Given the description of an element on the screen output the (x, y) to click on. 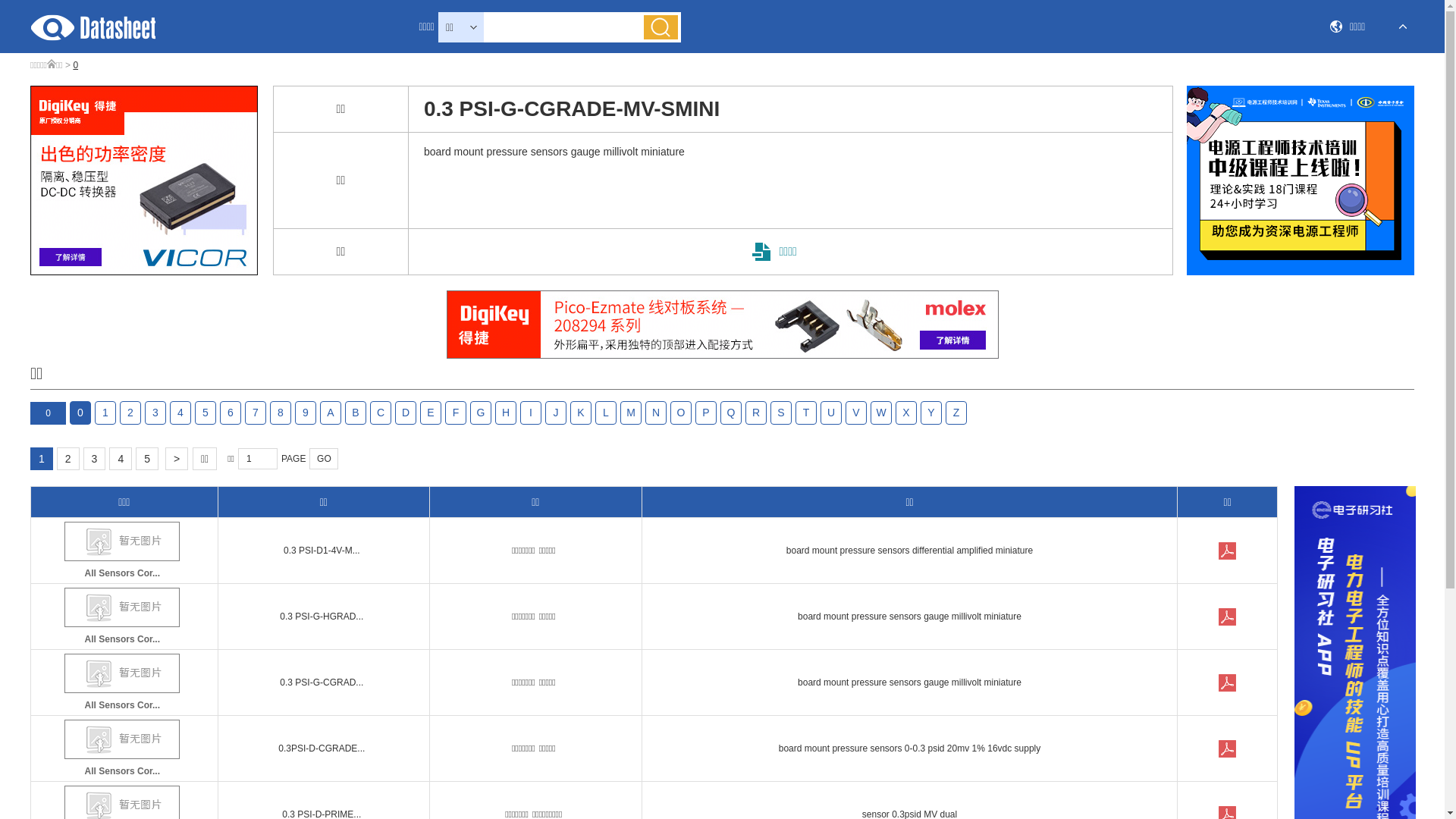
E Element type: text (430, 412)
G Element type: text (480, 412)
O Element type: text (680, 412)
M Element type: text (630, 412)
0.3 PSI-G-HGRADE-MV-SMINI Element type: hover (1227, 617)
I Element type: text (530, 412)
3rd party ad content Element type: hover (143, 180)
GO Element type: text (323, 458)
V Element type: text (855, 412)
0.3PSI-D-CGRADE... Element type: text (321, 748)
All Sensors Cor... Element type: text (122, 684)
W Element type: text (880, 412)
6 Element type: text (230, 412)
All Sensors Cor... Element type: text (122, 618)
Q Element type: text (730, 412)
Y Element type: text (930, 412)
J Element type: text (555, 412)
R Element type: text (755, 412)
2 Element type: text (67, 458)
0.3 PSI-G-HGRAD... Element type: text (321, 616)
0.3PSI-D-CGRADE-MV Element type: hover (1227, 749)
3 Element type: text (94, 458)
X Element type: text (905, 412)
0.3 PSI-G-CGRADE-MV-SMINI Element type: hover (1227, 683)
B Element type: text (355, 412)
A Element type: text (330, 412)
L Element type: text (605, 412)
7 Element type: text (255, 412)
0.3 PSI-D1-4V-MINI Element type: hover (1227, 551)
4 Element type: text (120, 458)
K Element type: text (580, 412)
U Element type: text (830, 412)
Z Element type: text (955, 412)
F Element type: text (455, 412)
S Element type: text (780, 412)
C Element type: text (380, 412)
8 Element type: text (280, 412)
0.3 PSI-G-CGRAD... Element type: text (321, 682)
5 Element type: text (146, 458)
4 Element type: text (180, 412)
9 Element type: text (305, 412)
P Element type: text (705, 412)
1 Element type: text (105, 412)
3 Element type: text (155, 412)
All Sensors Cor... Element type: text (122, 552)
5 Element type: text (205, 412)
H Element type: text (505, 412)
0.3 PSI-D1-4V-M... Element type: text (321, 550)
D Element type: text (405, 412)
0 Element type: text (80, 412)
> Element type: text (176, 458)
2 Element type: text (130, 412)
All Sensors Cor... Element type: text (122, 750)
T Element type: text (805, 412)
N Element type: text (655, 412)
3rd party ad content Element type: hover (721, 324)
